Given the description of an element on the screen output the (x, y) to click on. 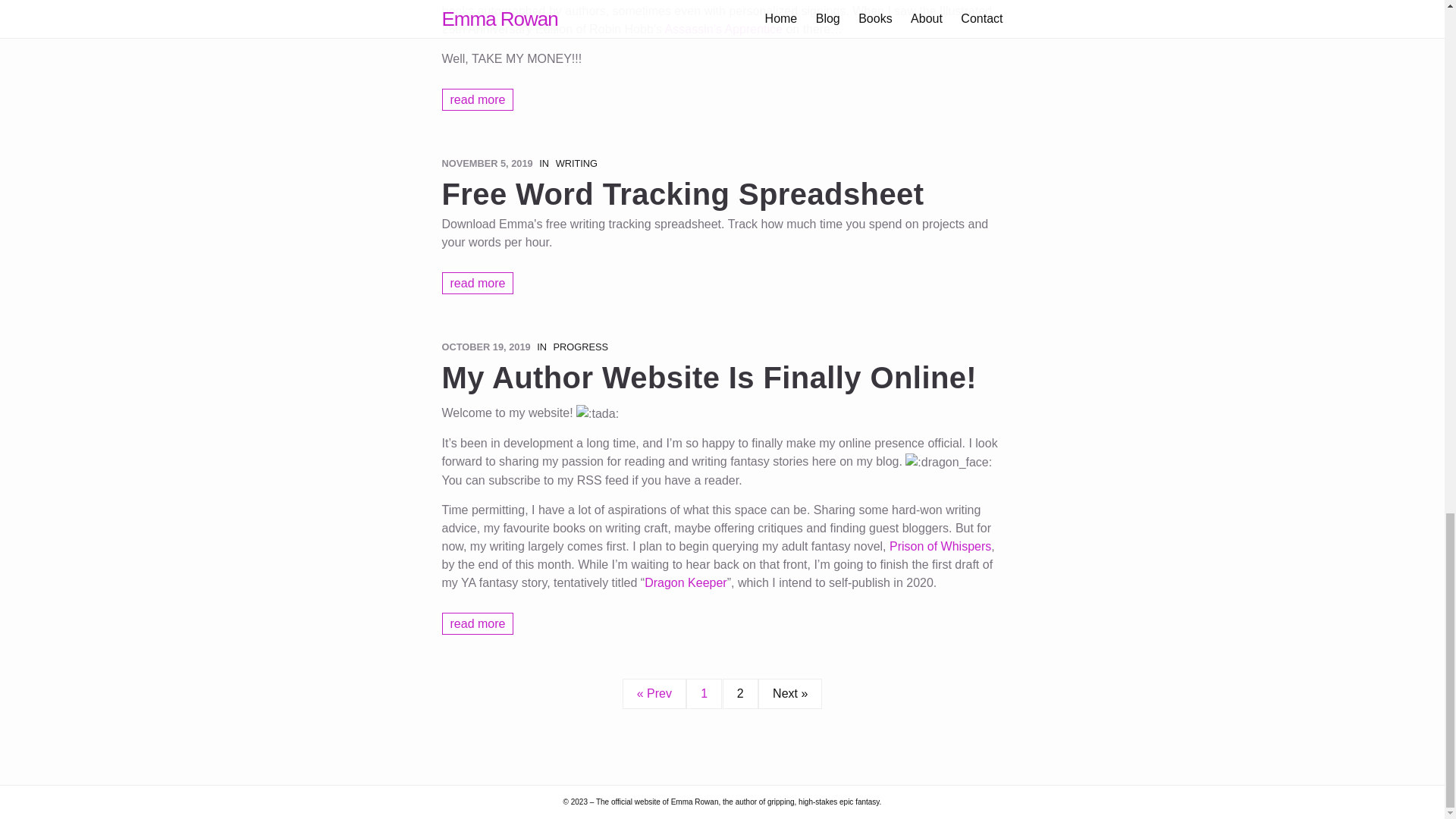
:tada: (597, 413)
read more (477, 99)
Dragon Keeper (685, 582)
Free Word Tracking Spreadsheet (722, 194)
WRITING (576, 163)
1 (703, 693)
read more (477, 623)
Prison of Whispers (940, 545)
PROGRESS (580, 346)
My Author Website Is Finally Online! (722, 377)
